Given the description of an element on the screen output the (x, y) to click on. 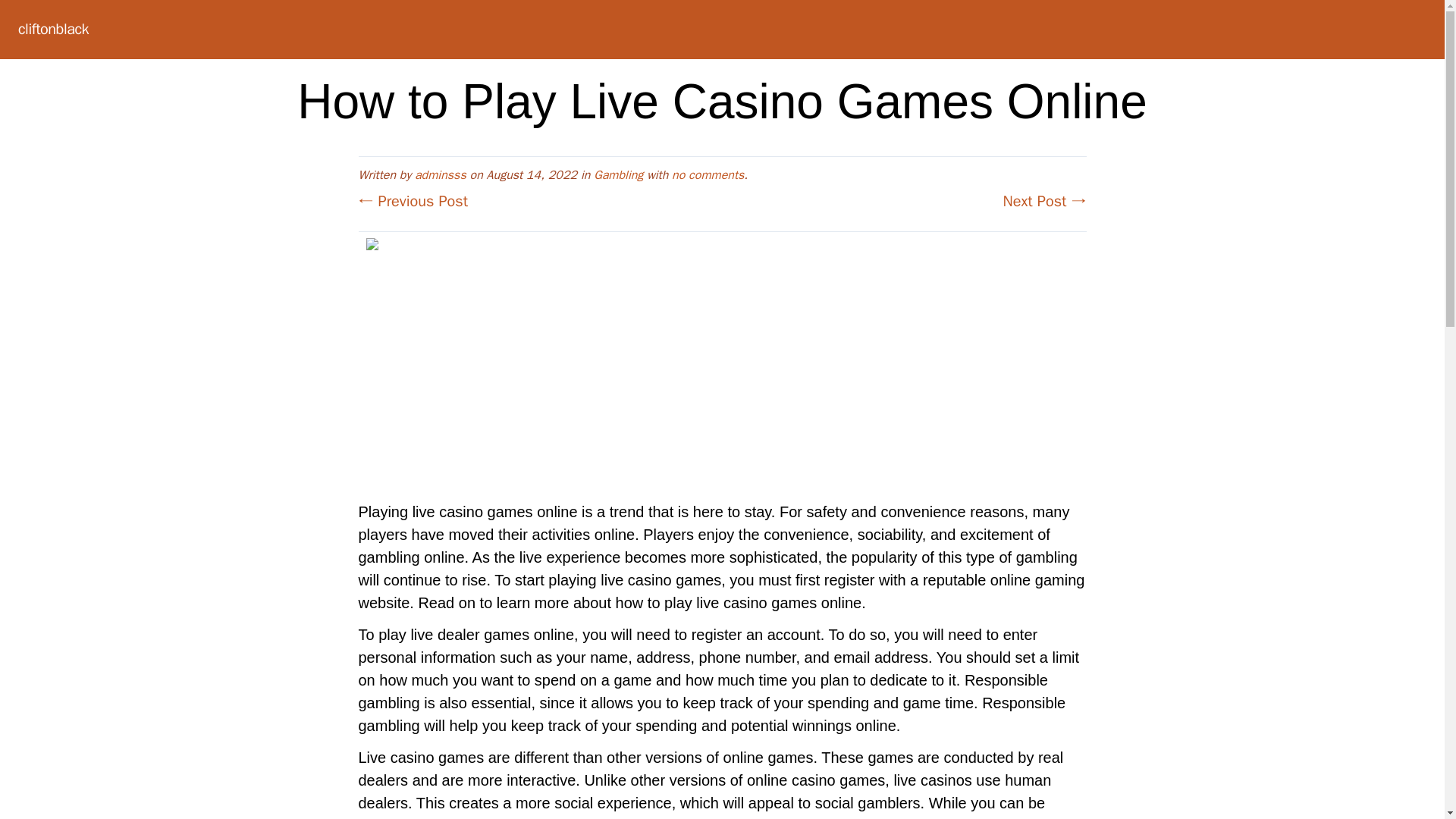
cliftonblack (52, 29)
no comments (707, 174)
Gambling (618, 174)
no comments (707, 174)
adminsss (439, 174)
